Given the description of an element on the screen output the (x, y) to click on. 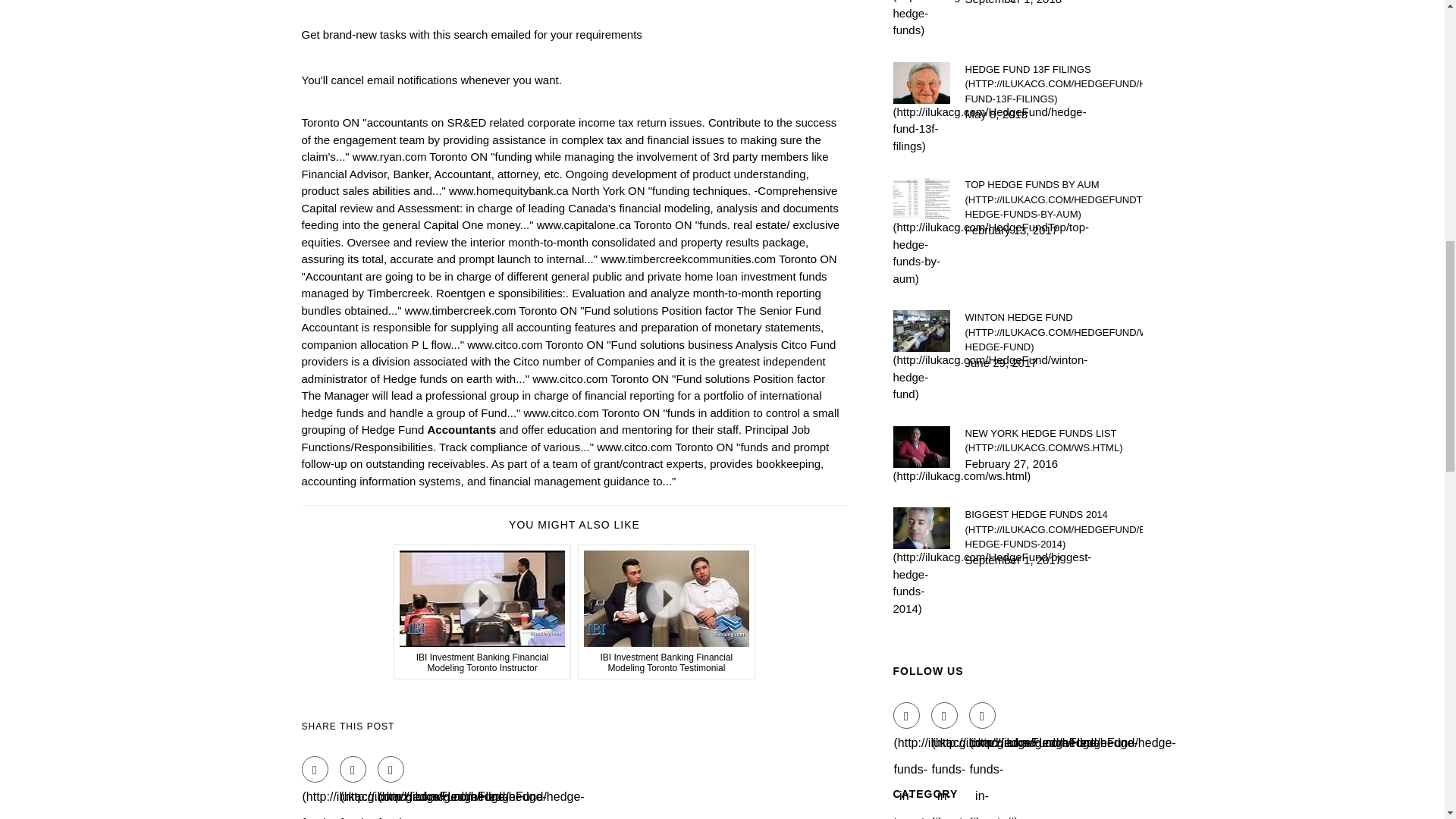
View this video from YouTube (482, 611)
WINTON HEDGE FUND (1052, 332)
Facebook (906, 714)
Facebook (315, 768)
Google Plus (982, 714)
View this video from YouTube (666, 611)
Twitter (944, 714)
Twitter (352, 768)
Google Plus (390, 768)
NEW YORK HEDGE FUNDS LIST (1052, 440)
TOP HEDGE FUNDS BY AUM (1052, 199)
HEDGE FUND 13F FILINGS (1052, 84)
